Given the description of an element on the screen output the (x, y) to click on. 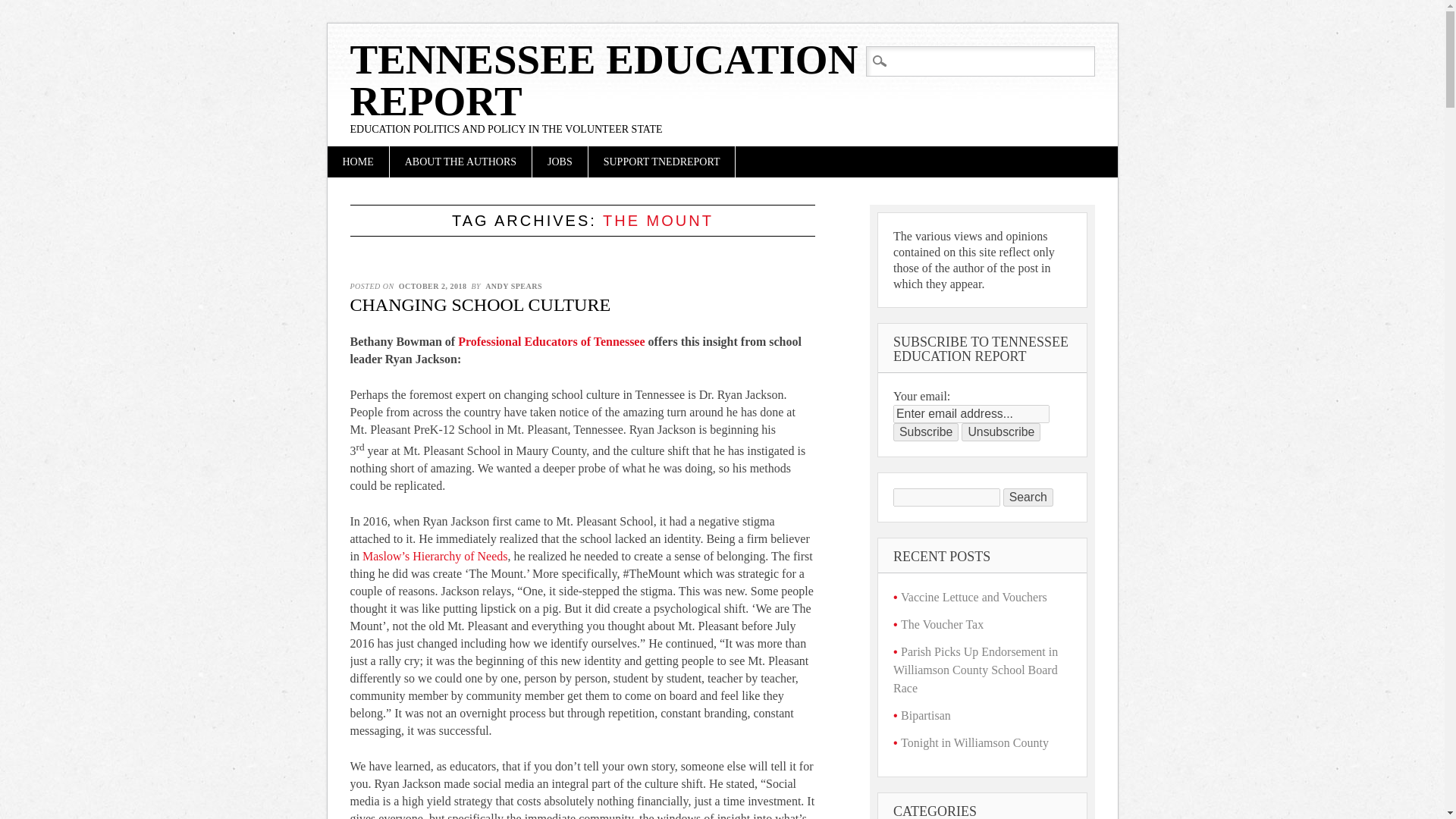
Bipartisan (925, 715)
Tonight in Williamson County (974, 742)
Subscribe (925, 432)
The Voucher Tax (942, 624)
Search (1027, 497)
SUPPORT TNEDREPORT (661, 161)
Enter email address... (971, 413)
4:55 pm (432, 285)
Tennessee Education Report (604, 80)
Unsubscribe (1000, 432)
Search (24, 9)
JOBS (560, 161)
ABOUT THE AUTHORS (460, 161)
Subscribe (925, 432)
Permalink to Changing School Culture (480, 304)
